Given the description of an element on the screen output the (x, y) to click on. 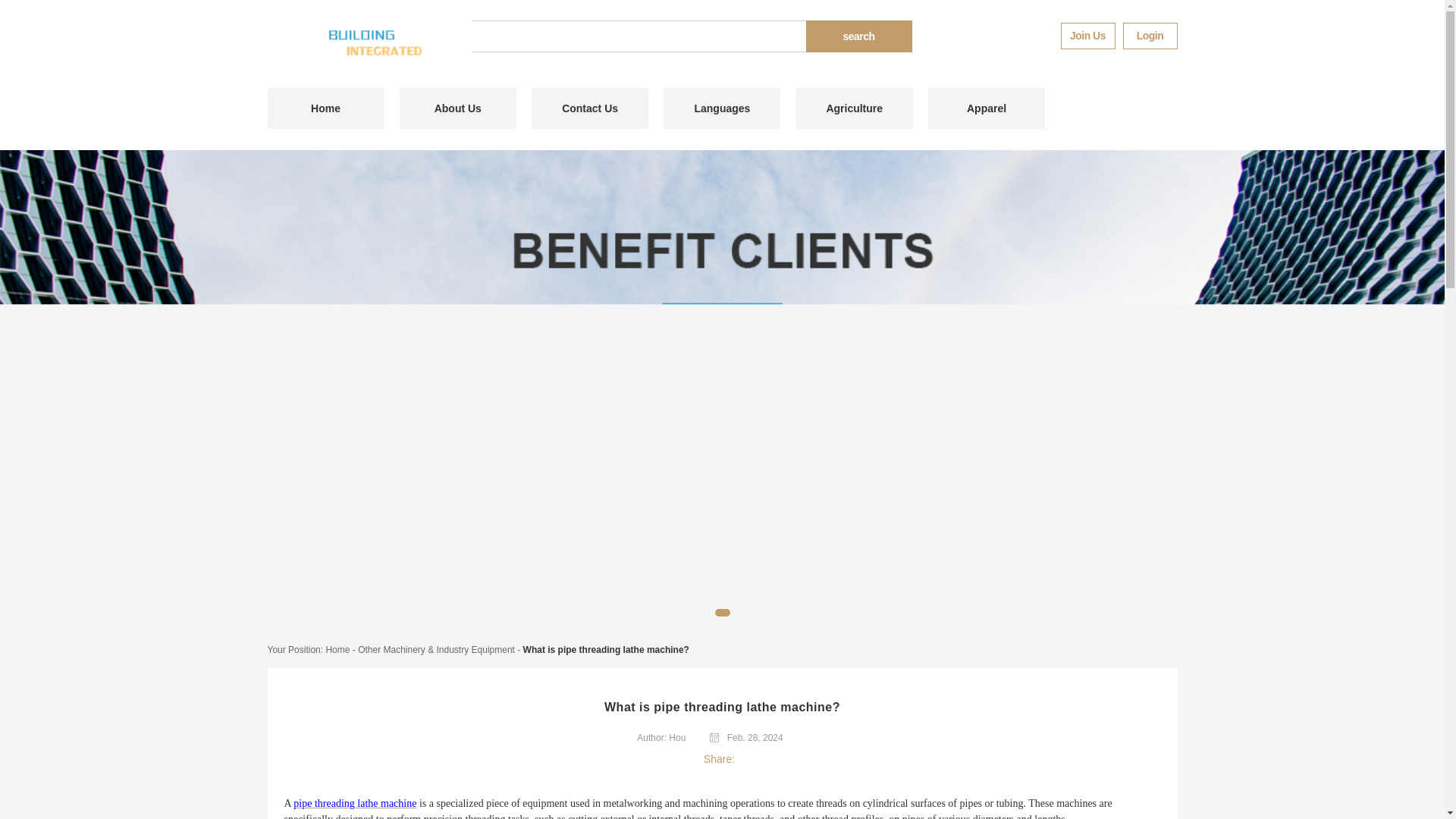
search (858, 36)
